Given the description of an element on the screen output the (x, y) to click on. 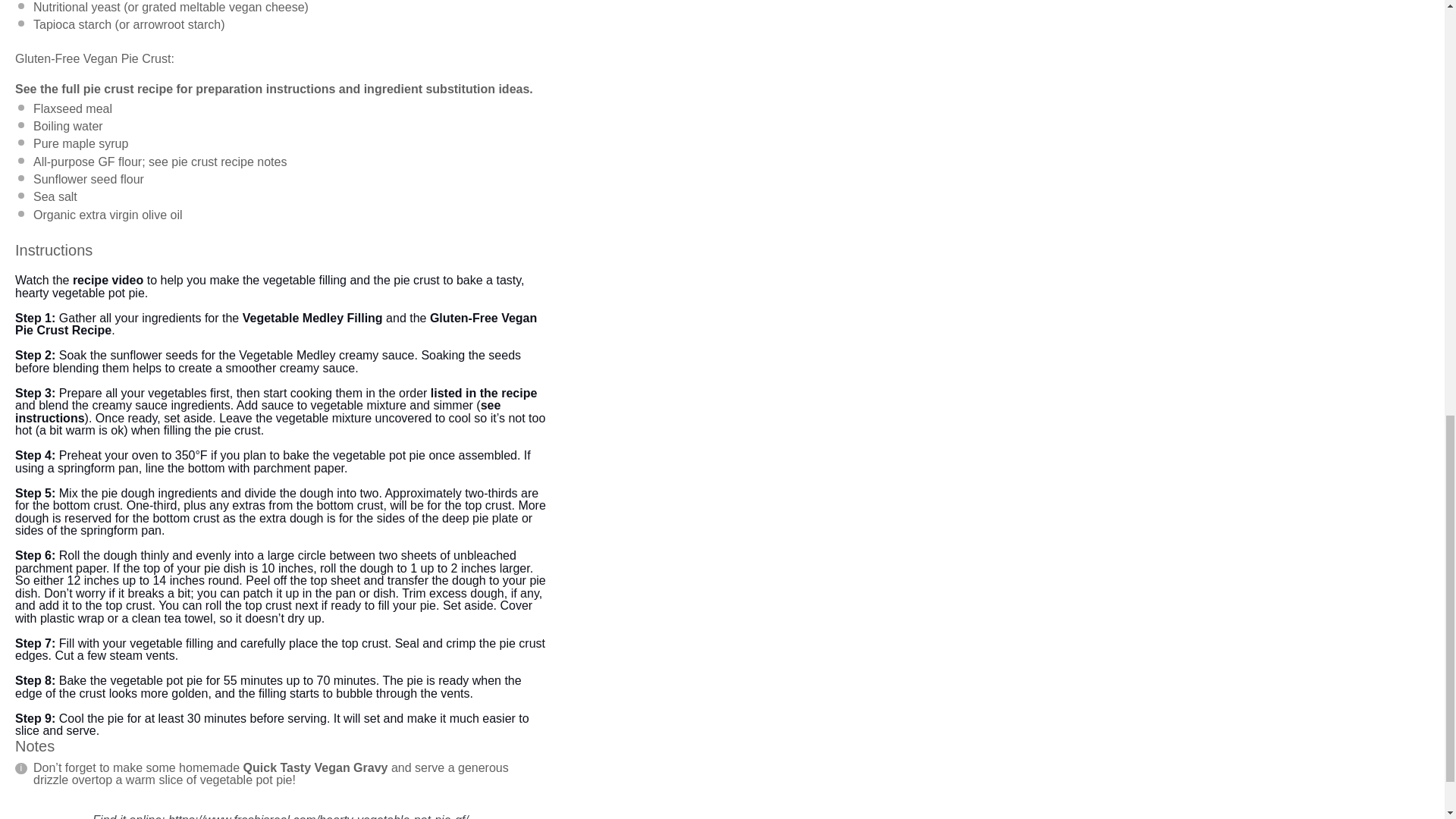
recipe video (107, 279)
Quick Tasty Vegan Gravy (315, 767)
See the full pie crust recipe (93, 88)
listed in the recipe (483, 392)
Vegetable Medley Filling (312, 318)
Gluten-Free Vegan Pie Crust Recipe (275, 324)
see instructions (257, 411)
